Given the description of an element on the screen output the (x, y) to click on. 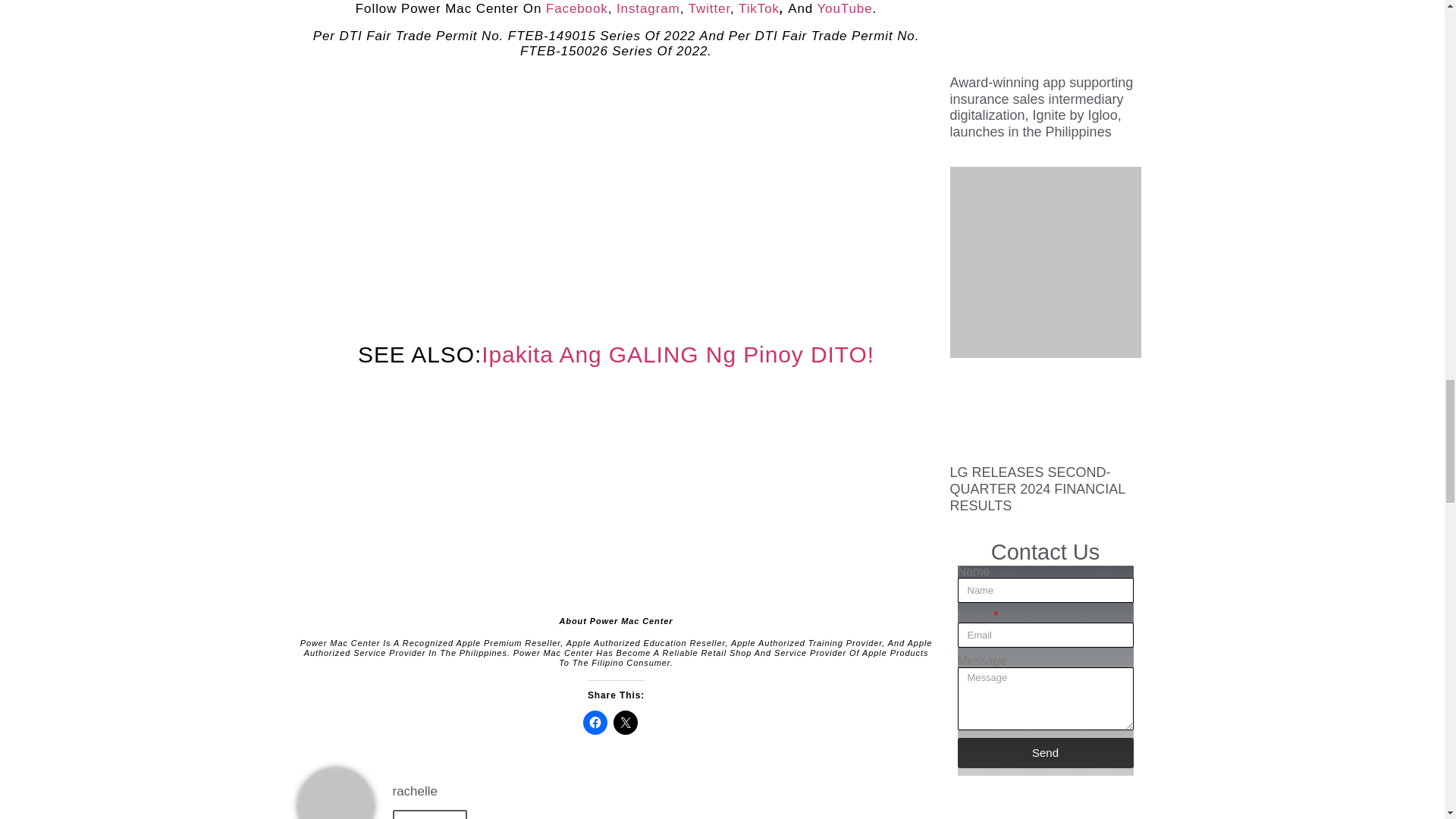
Click to share on X (624, 722)
Twitter (709, 8)
Facebook (577, 8)
Instagram (647, 8)
TikTok (758, 8)
Click to share on Facebook (594, 722)
